Given the description of an element on the screen output the (x, y) to click on. 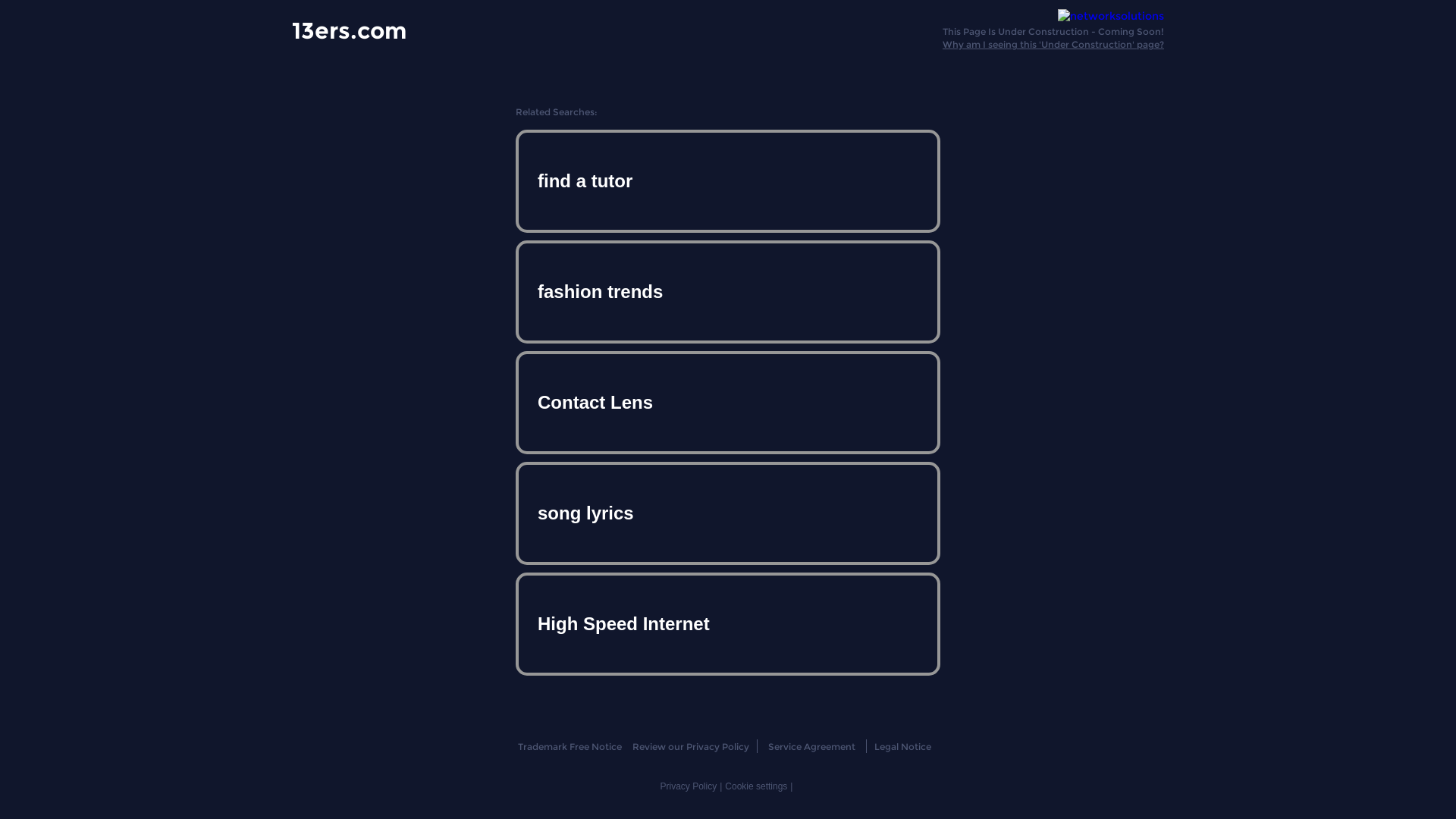
Legal Notice Element type: text (901, 746)
Contact Lens Element type: text (727, 402)
High Speed Internet Element type: text (727, 623)
Why am I seeing this 'Under Construction' page? Element type: text (1053, 44)
find a tutor Element type: text (727, 180)
Cookie settings Element type: text (755, 786)
Trademark Free Notice Element type: text (569, 746)
13ers.com Element type: text (348, 29)
Privacy Policy Element type: text (687, 786)
Service Agreement Element type: text (810, 746)
fashion trends Element type: text (727, 291)
Review our Privacy Policy Element type: text (690, 746)
song lyrics Element type: text (727, 512)
